Given the description of an element on the screen output the (x, y) to click on. 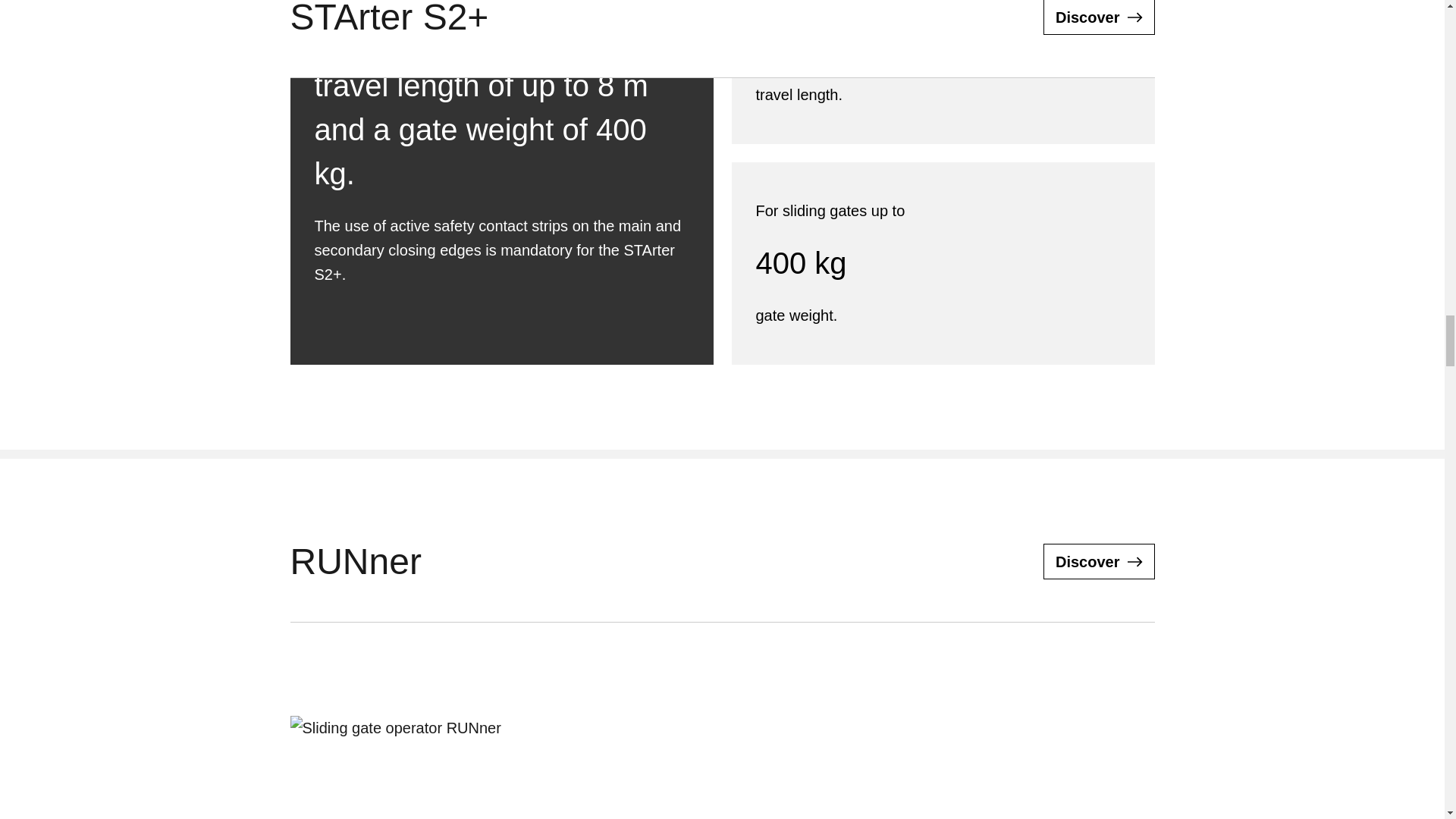
RUNner (1098, 561)
